Given the description of an element on the screen output the (x, y) to click on. 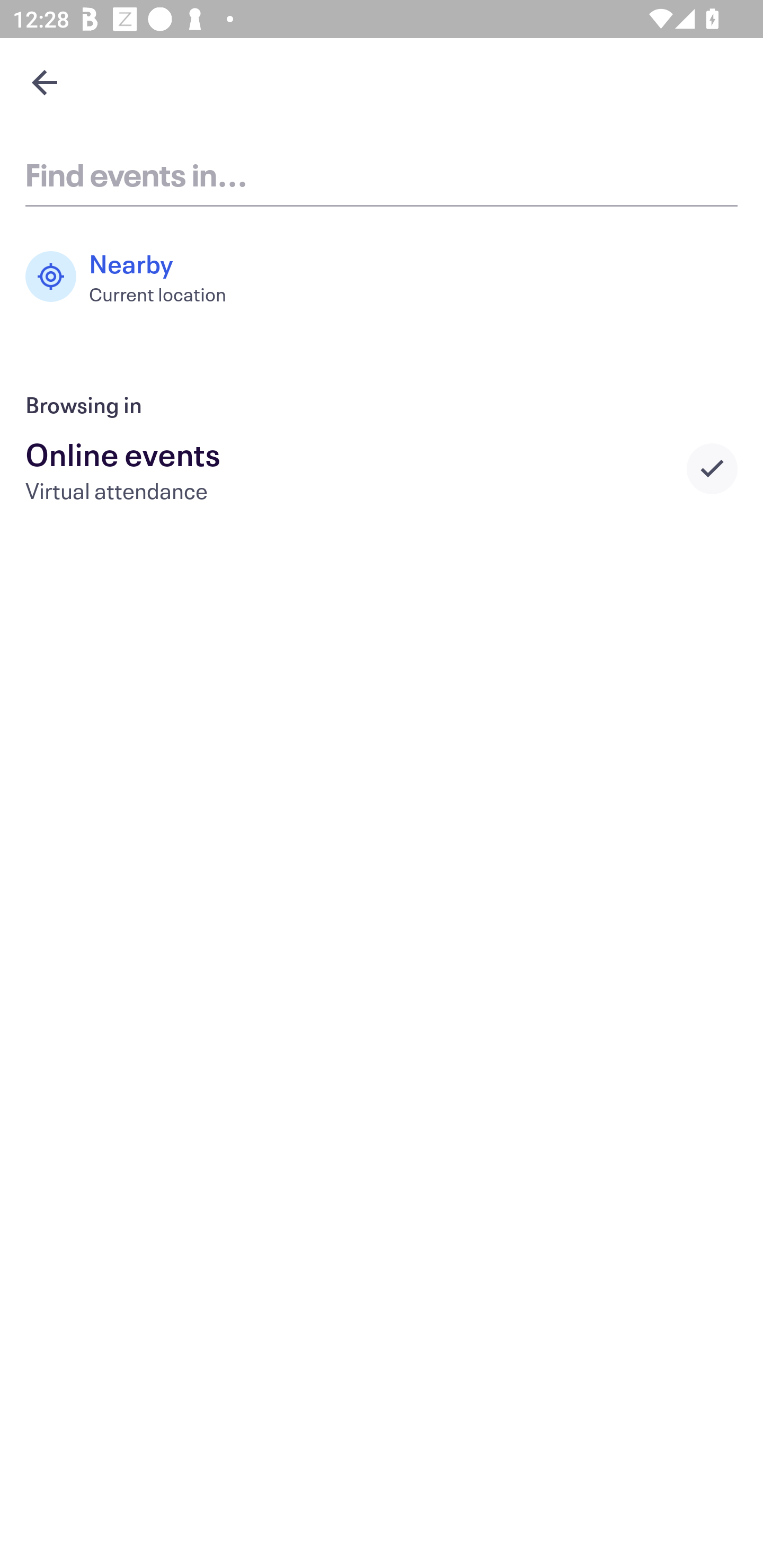
Navigate up (44, 82)
Find events in... (381, 173)
Nearby Current location (135, 276)
Online events Virtual attendance Selected city (381, 468)
